Given the description of an element on the screen output the (x, y) to click on. 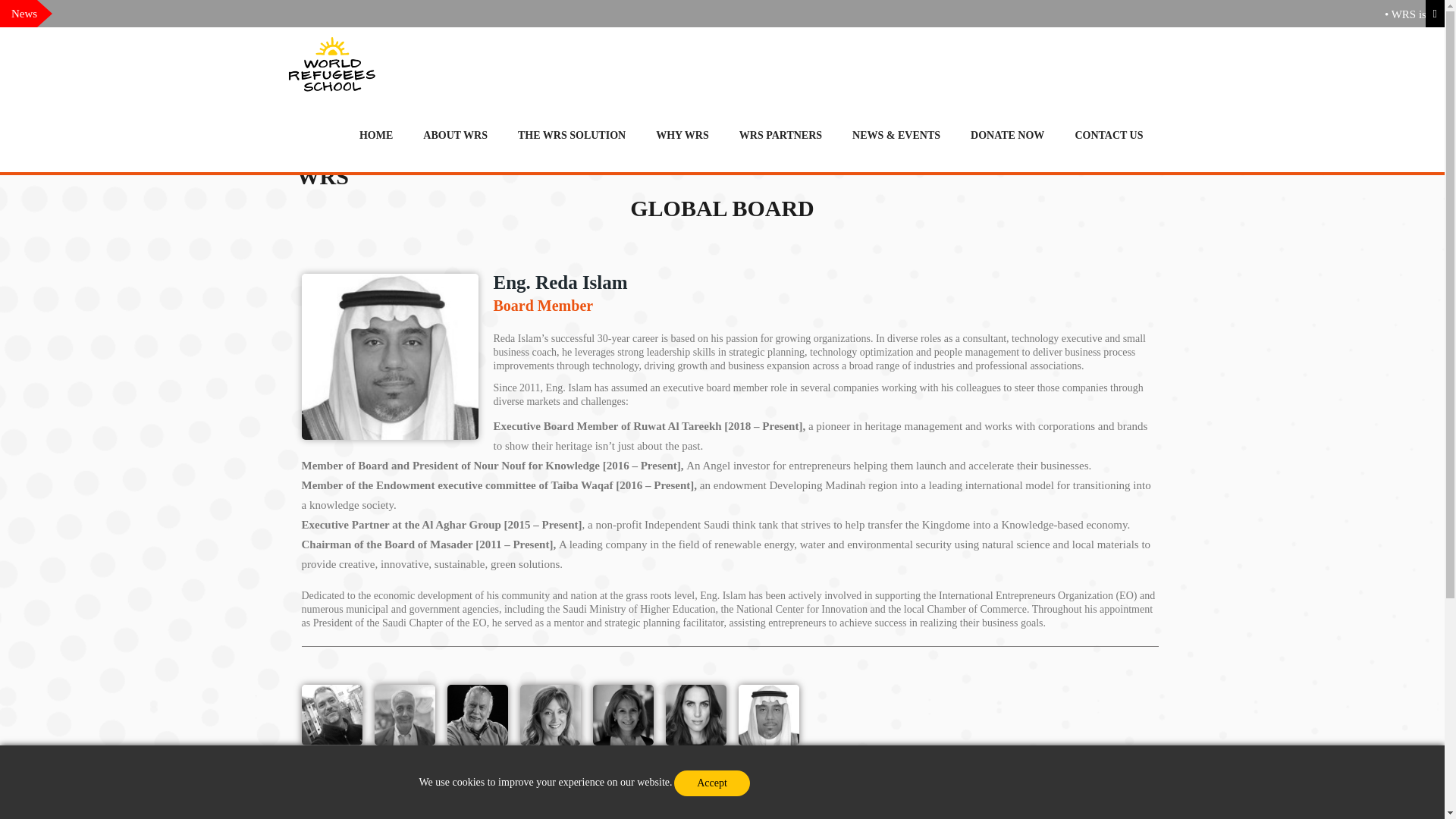
Donate Now (1007, 134)
The WRS Solution (572, 134)
WRS PARTNERS (780, 134)
THE WRS SOLUTION (572, 134)
CONTACT US (1108, 134)
World Refugees School -  (331, 62)
DONATE NOW (1007, 134)
WRS Partners (780, 134)
Contact us (1108, 134)
